Given the description of an element on the screen output the (x, y) to click on. 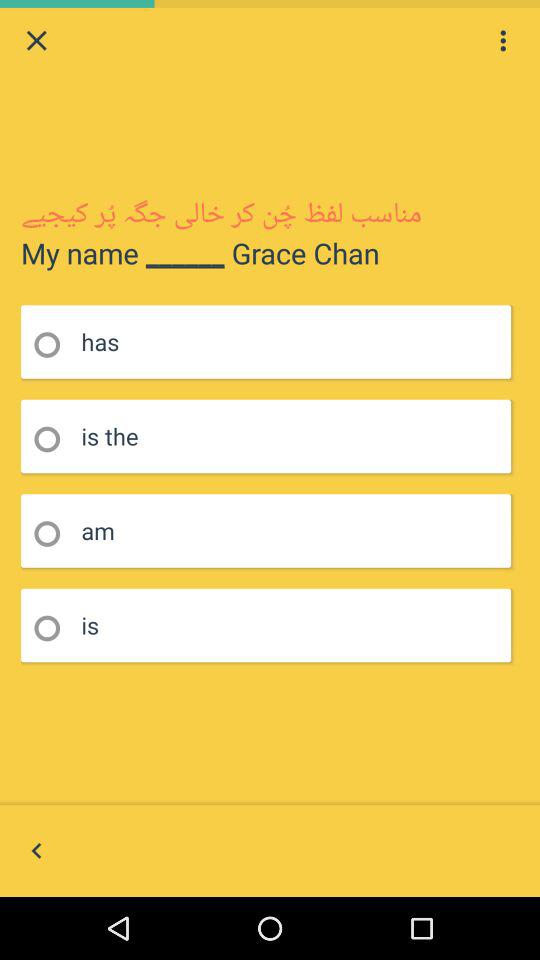
close window (36, 40)
